Given the description of an element on the screen output the (x, y) to click on. 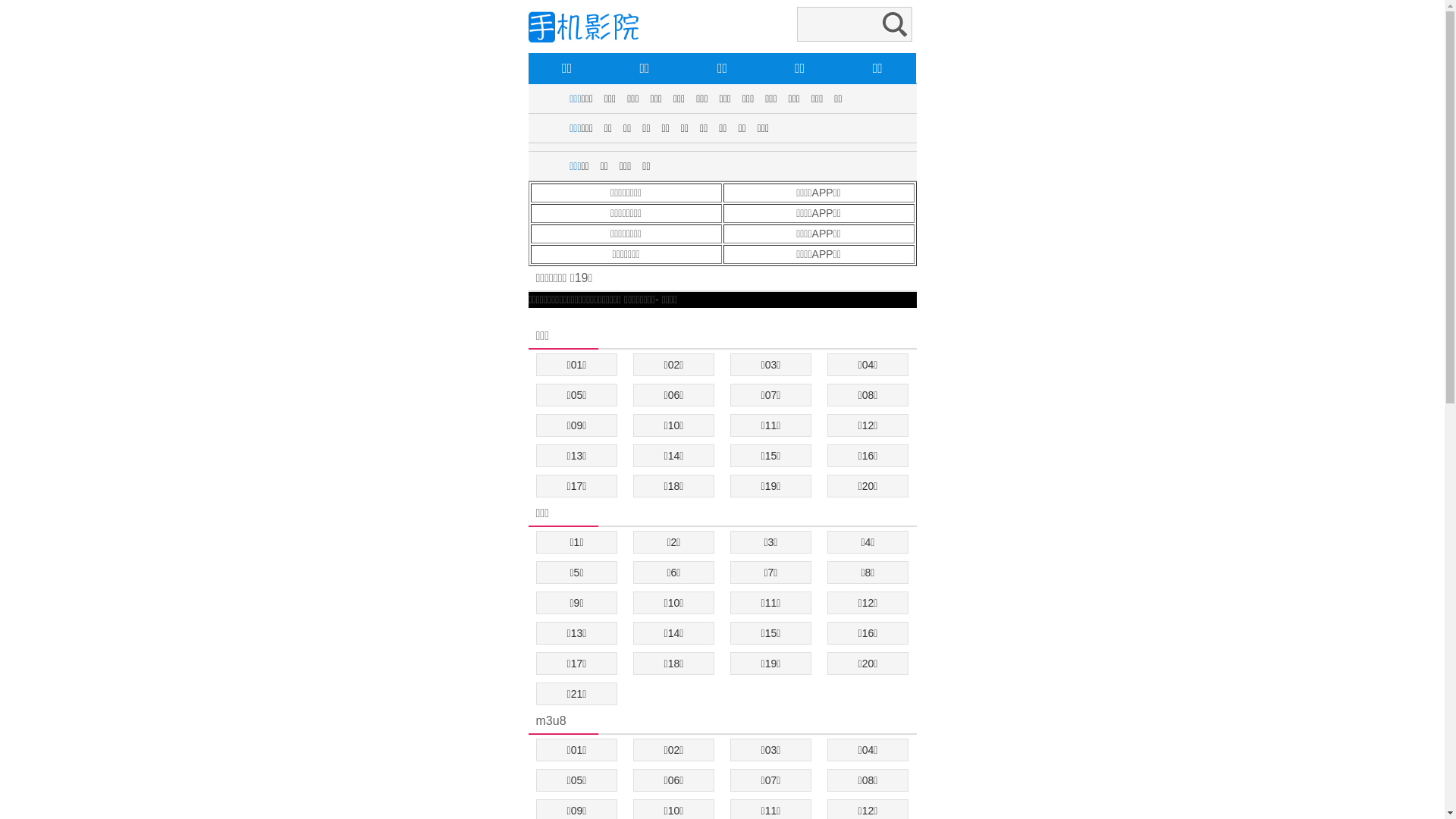
  Element type: text (528, 315)
